Given the description of an element on the screen output the (x, y) to click on. 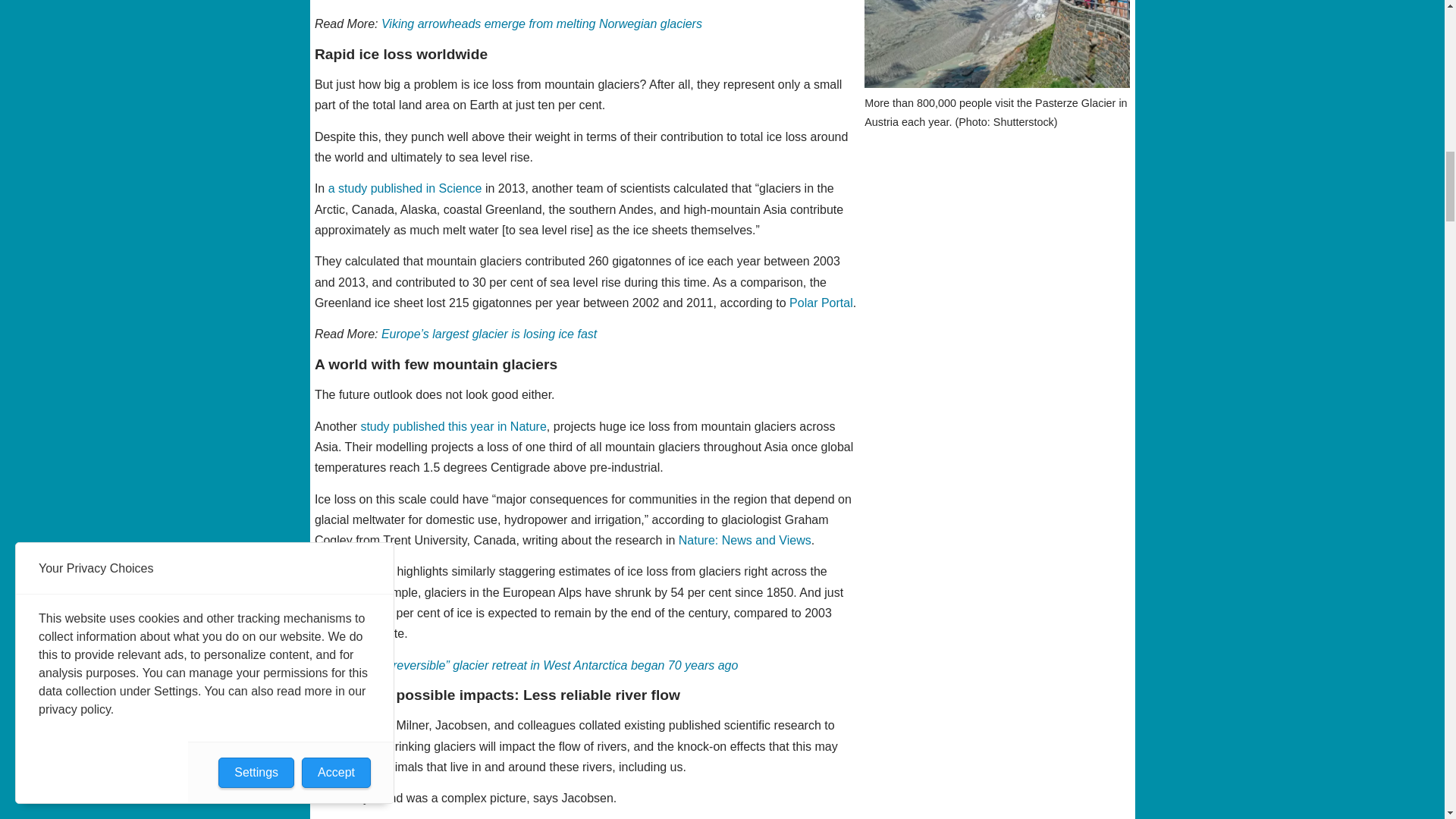
Polar Portal (821, 302)
a study published in Science (405, 187)
Viking arrowheads emerge from melting Norwegian glaciers (541, 23)
Nature: News and Views (744, 540)
study published this year in Nature (452, 426)
